Given the description of an element on the screen output the (x, y) to click on. 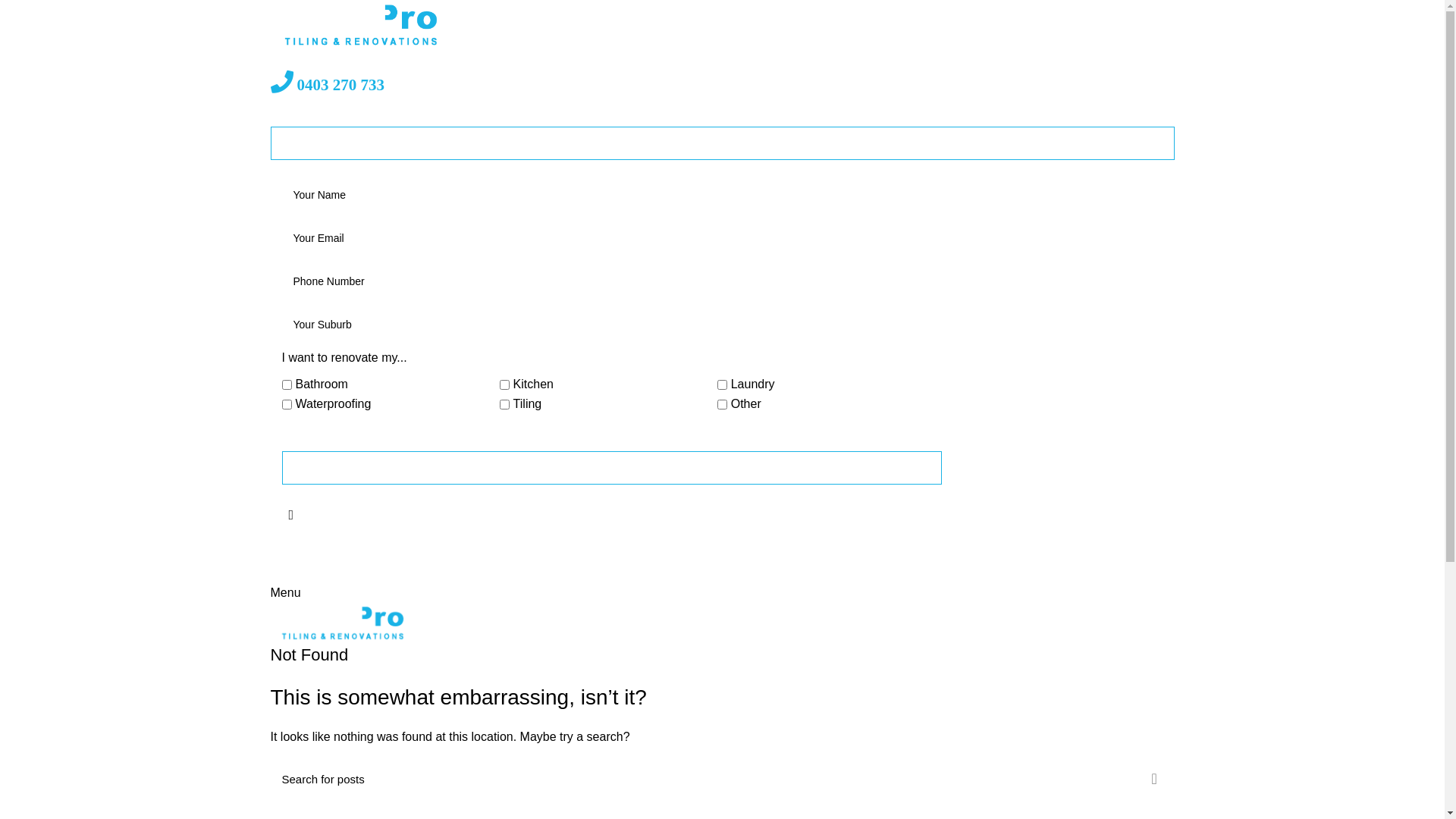
ABOUT US Element type: text (518, 60)
HOME Element type: text (438, 60)
RECENT PROJECTS Element type: text (734, 60)
Menu Element type: text (284, 592)
Book Now Element type: text (611, 467)
BEFORE & AFTER Element type: text (876, 60)
0403 270 733 Element type: text (326, 85)
SERVICES Element type: text (612, 60)
CONTACT US Element type: text (998, 60)
GET A QUOTE Element type: text (721, 143)
Search for posts Element type: hover (721, 778)
SEARCH Element type: text (1153, 778)
